Given the description of an element on the screen output the (x, y) to click on. 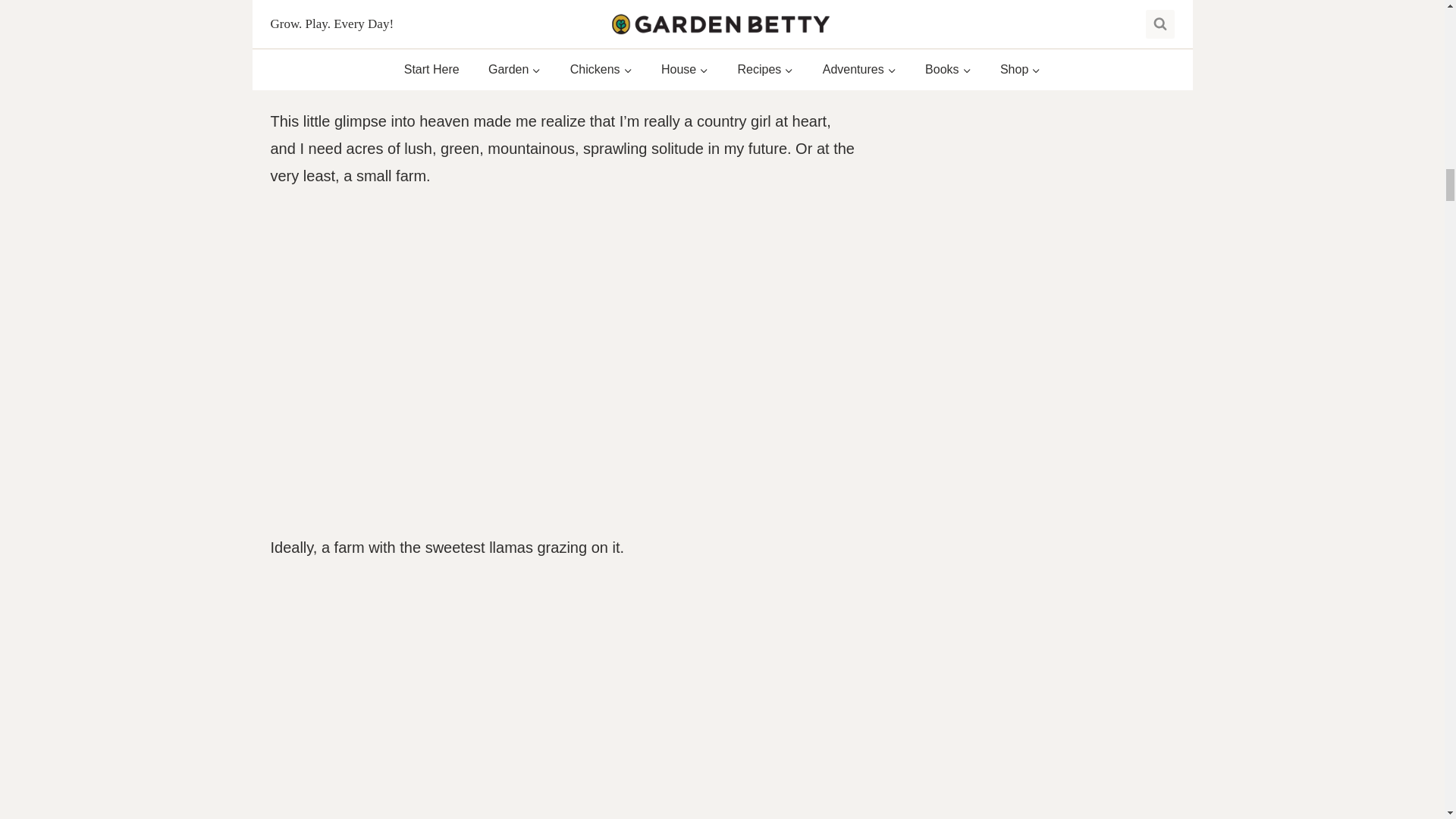
Favorite Moments from Pagosa Springs (563, 41)
